Given the description of an element on the screen output the (x, y) to click on. 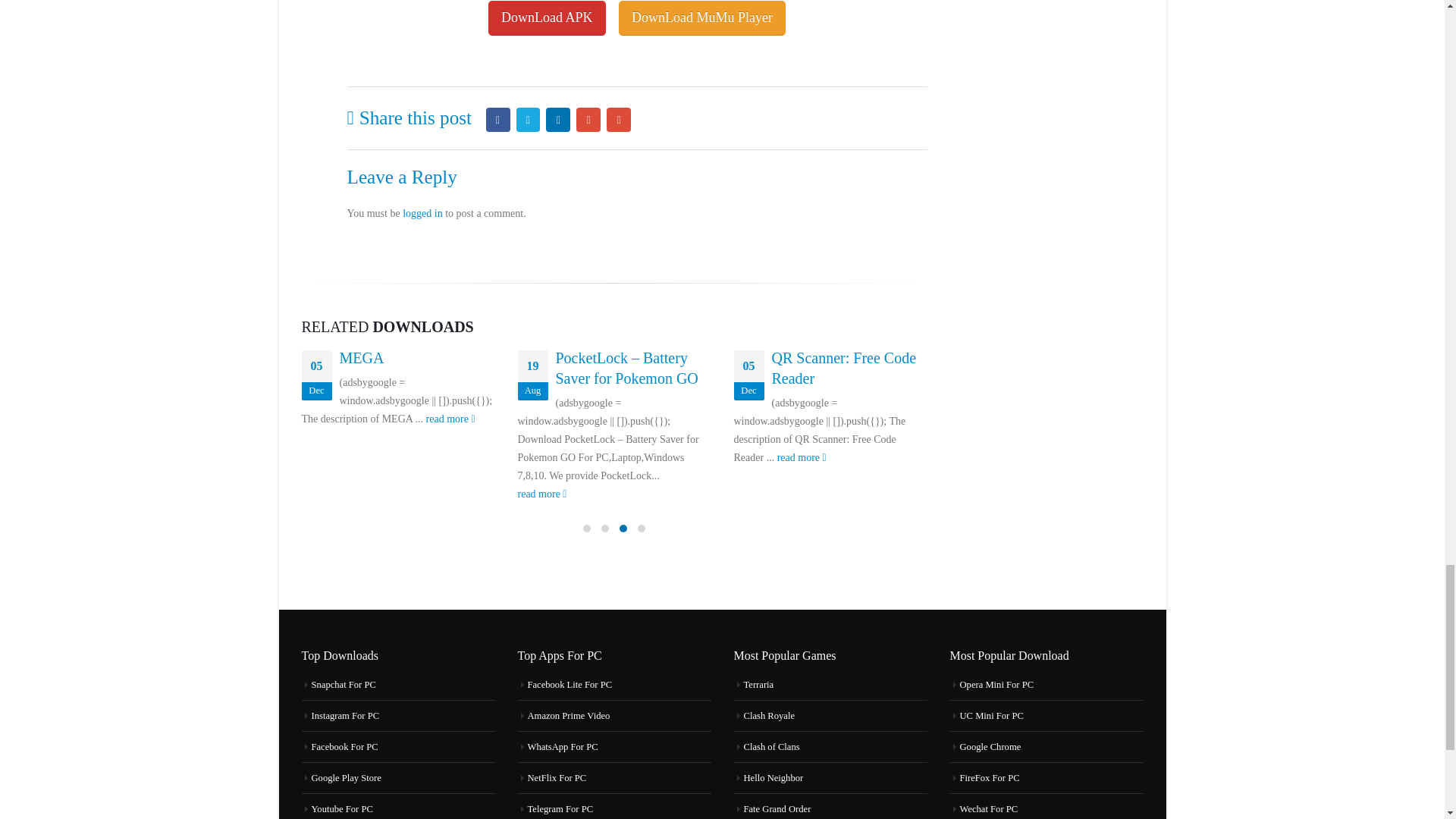
DigiCal Calendar Agenda (546, 16)
DigiCal Calendar Agenda (702, 16)
